Given the description of an element on the screen output the (x, y) to click on. 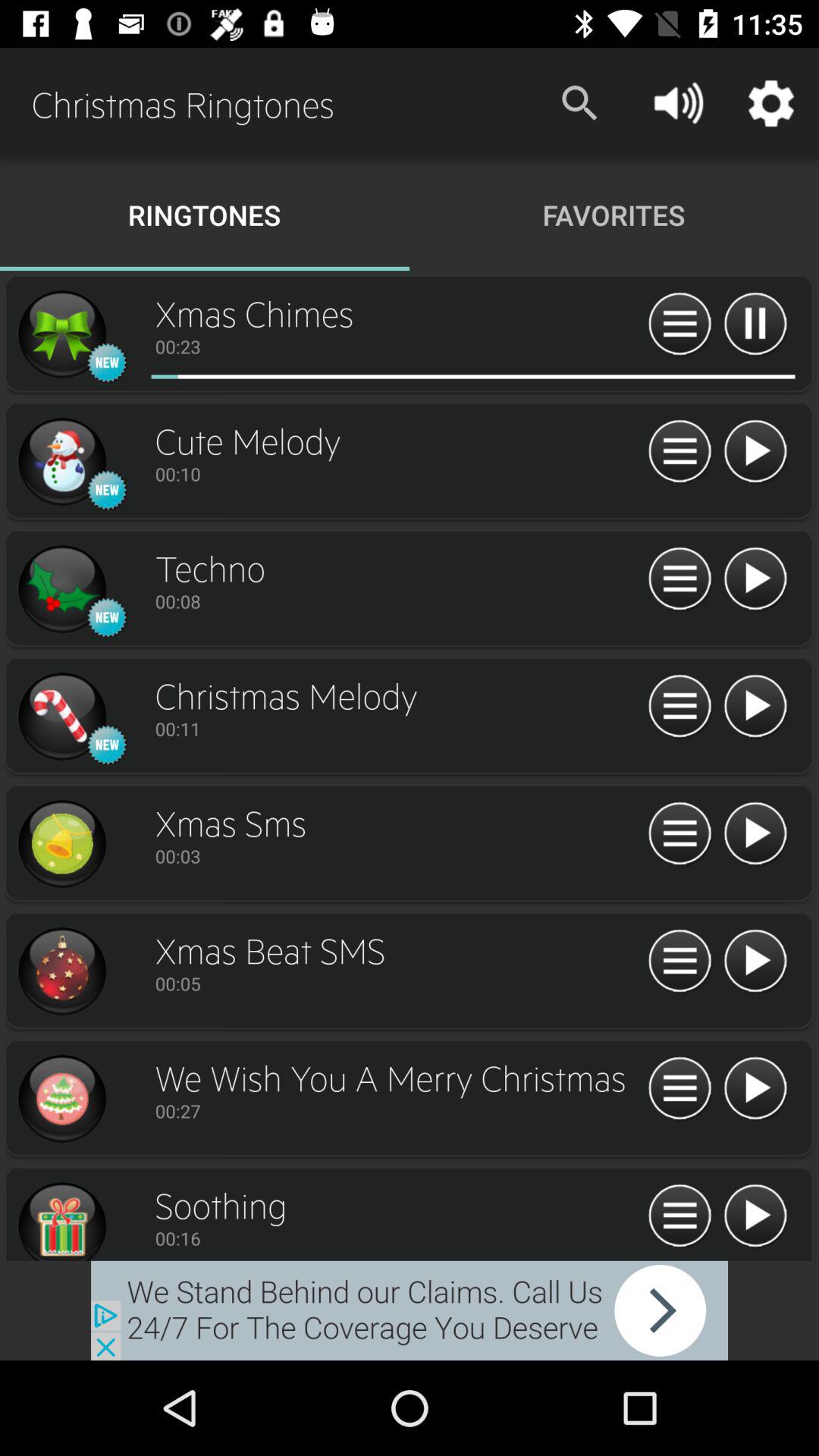
play techno ringtone (755, 579)
